Given the description of an element on the screen output the (x, y) to click on. 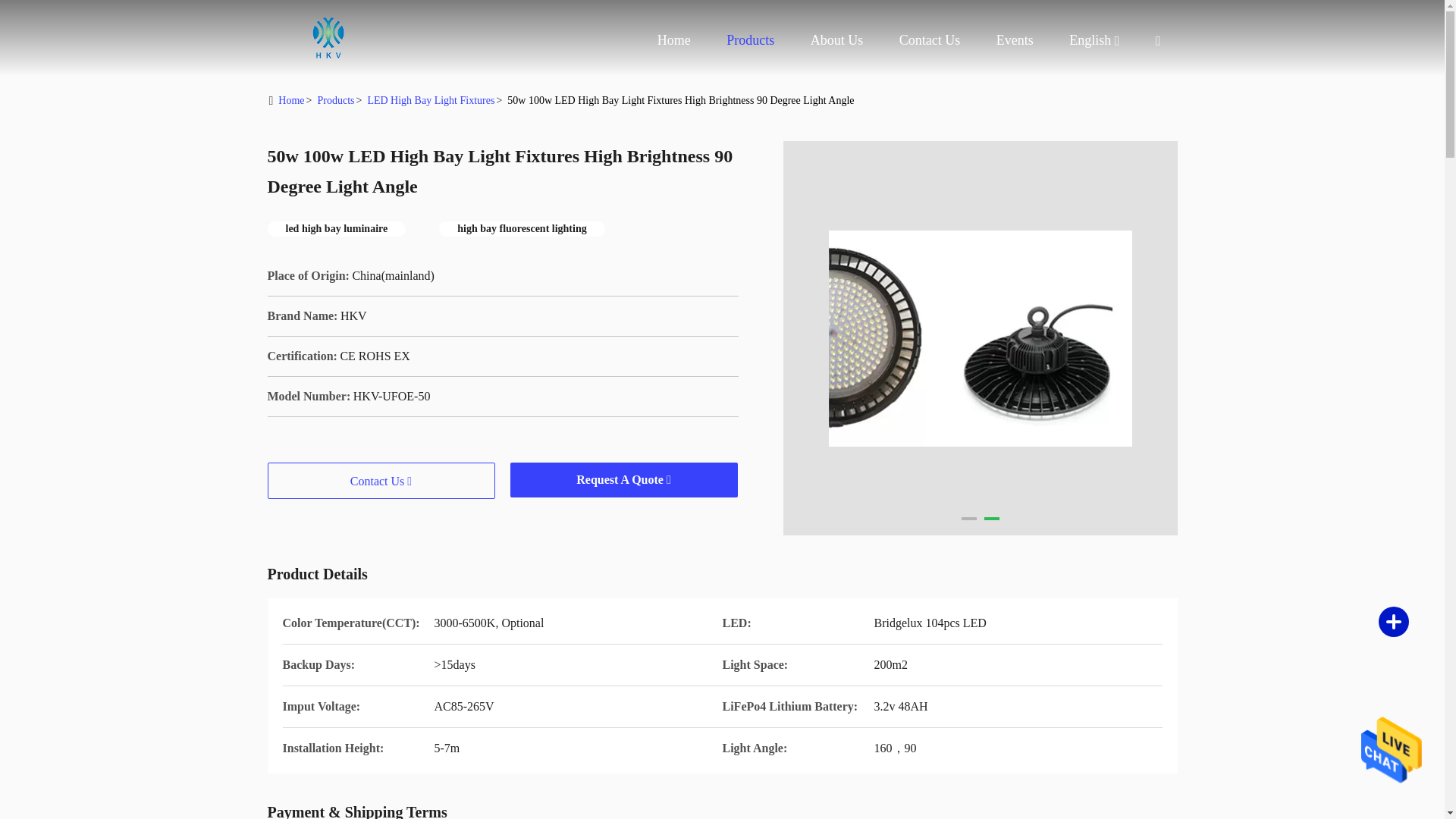
Contact Us (929, 40)
Products (750, 40)
Home (291, 100)
Home (327, 37)
About Us (836, 40)
LED High Bay Light Fixtures (430, 100)
Products (750, 40)
Products (335, 100)
About Us (836, 40)
